Given the description of an element on the screen output the (x, y) to click on. 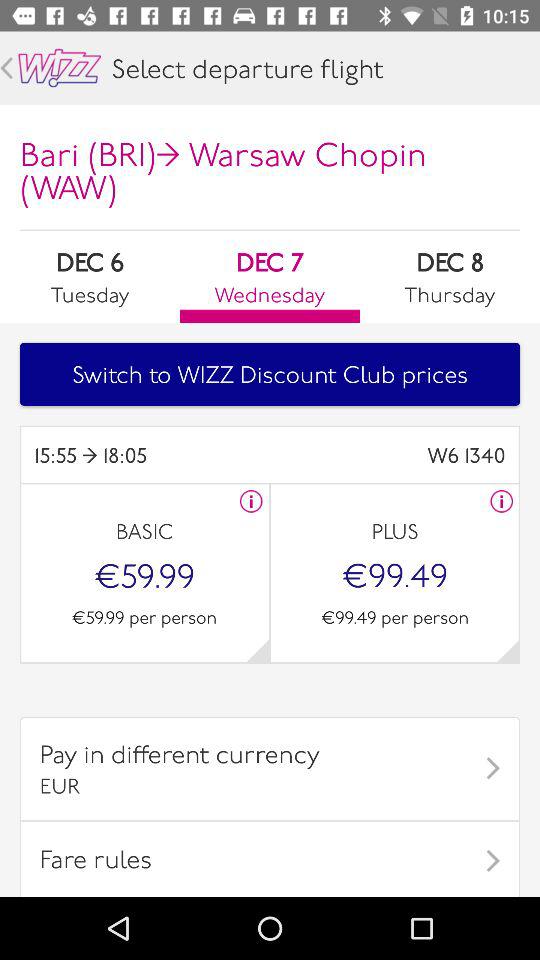
more info (251, 501)
